Given the description of an element on the screen output the (x, y) to click on. 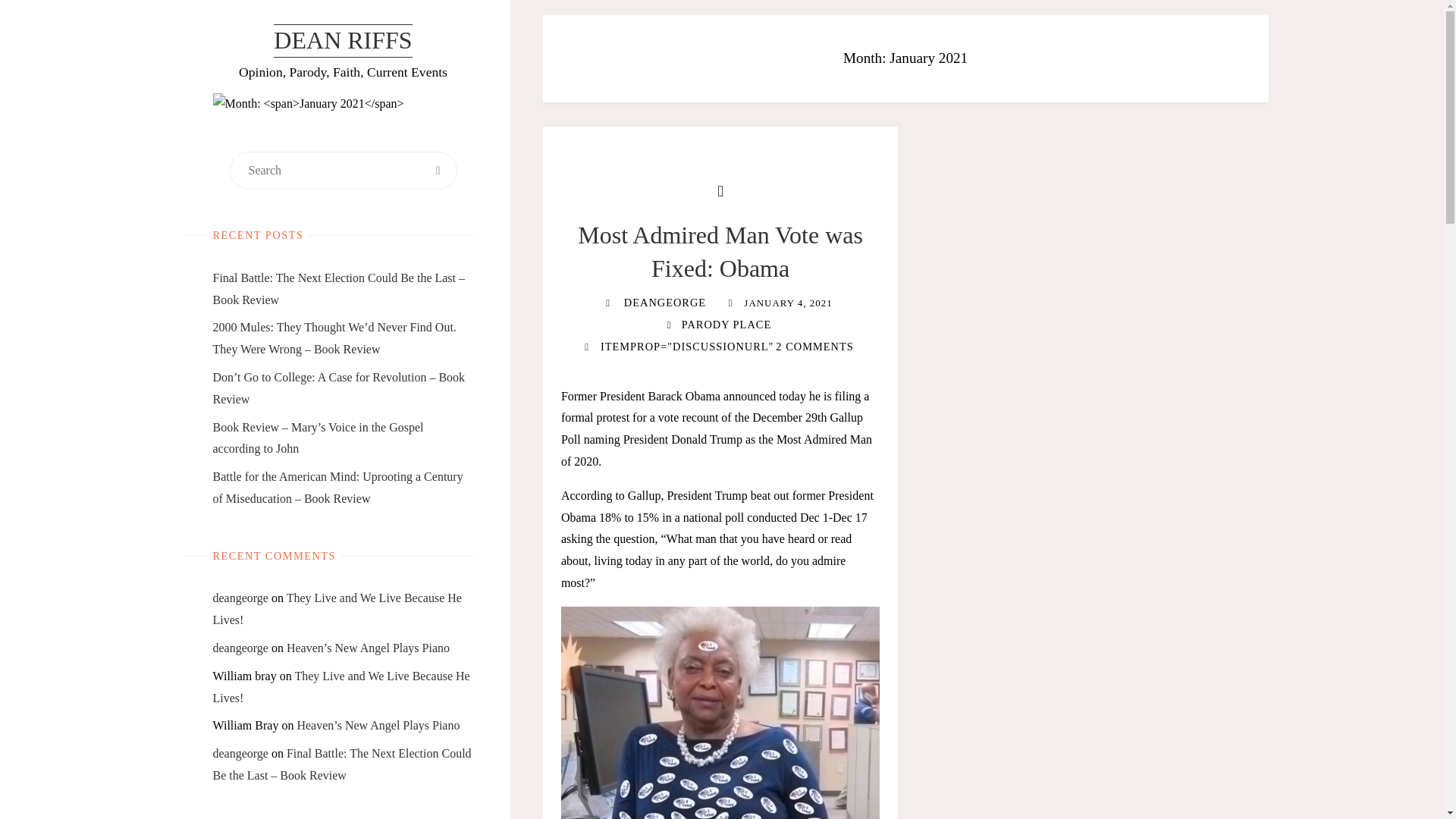
Search (438, 170)
They Live and We Live Because He Lives! (336, 608)
deangeorge (239, 753)
Author (606, 302)
Categories (669, 324)
Comments (586, 346)
Date (730, 302)
DEAN RIFFS (342, 40)
deangeorge (239, 597)
deangeorge (239, 647)
Quote (720, 190)
They Live and We Live Because He Lives! (340, 686)
Opinion, Parody, Faith, Current Events (342, 40)
View all posts by deangeorge (663, 302)
